Given the description of an element on the screen output the (x, y) to click on. 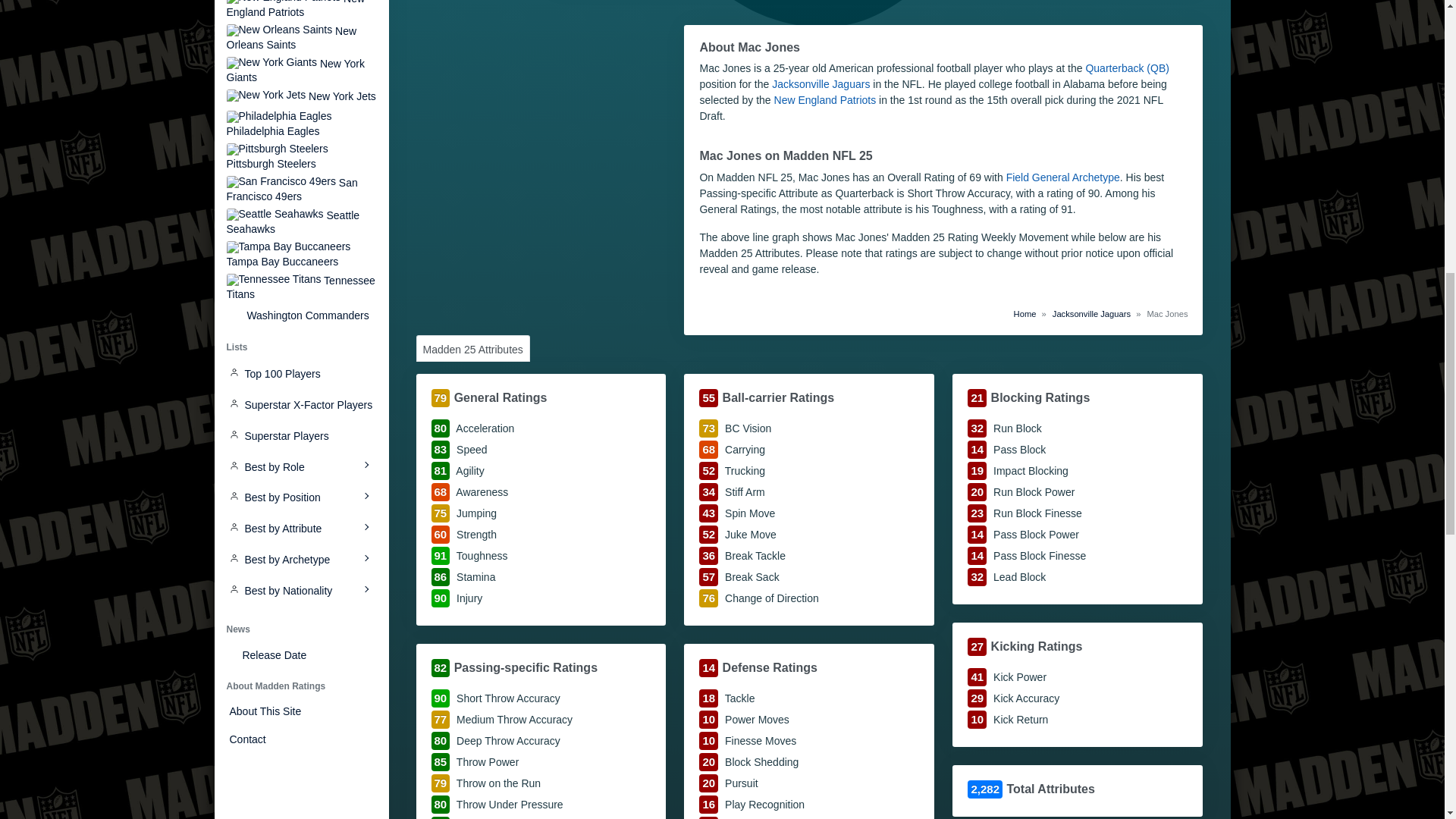
Pittsburgh Steelers (300, 156)
New York Jets (300, 96)
Washington Commanders (300, 316)
New York Giants (300, 69)
Best by Role (300, 466)
Tampa Bay Buccaneers (300, 253)
New England Patriots (300, 9)
Top 100 Players (300, 373)
Superstar X-Factor Players (300, 404)
San Francisco 49ers (300, 189)
